Given the description of an element on the screen output the (x, y) to click on. 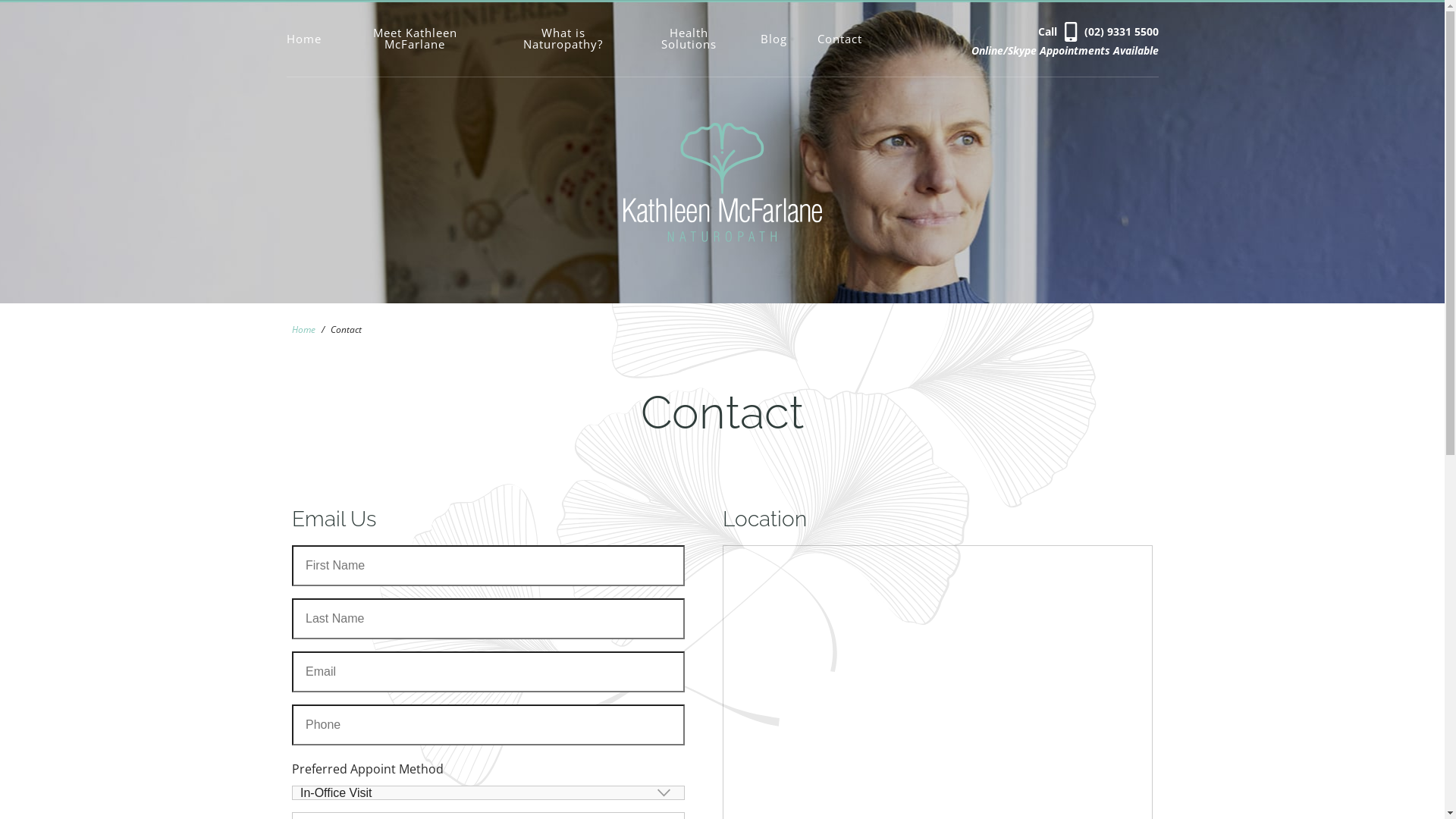
Contact Element type: text (839, 38)
Kathleen McFarlane Naturopath Element type: text (722, 237)
What is Naturopathy? Element type: text (562, 38)
Blog Element type: text (773, 38)
Call
(02) 9331 5500 Element type: text (1097, 30)
Home Element type: text (311, 38)
Meet Kathleen McFarlane Element type: text (415, 38)
Home Element type: text (303, 329)
Health Solutions Element type: text (688, 38)
